Given the description of an element on the screen output the (x, y) to click on. 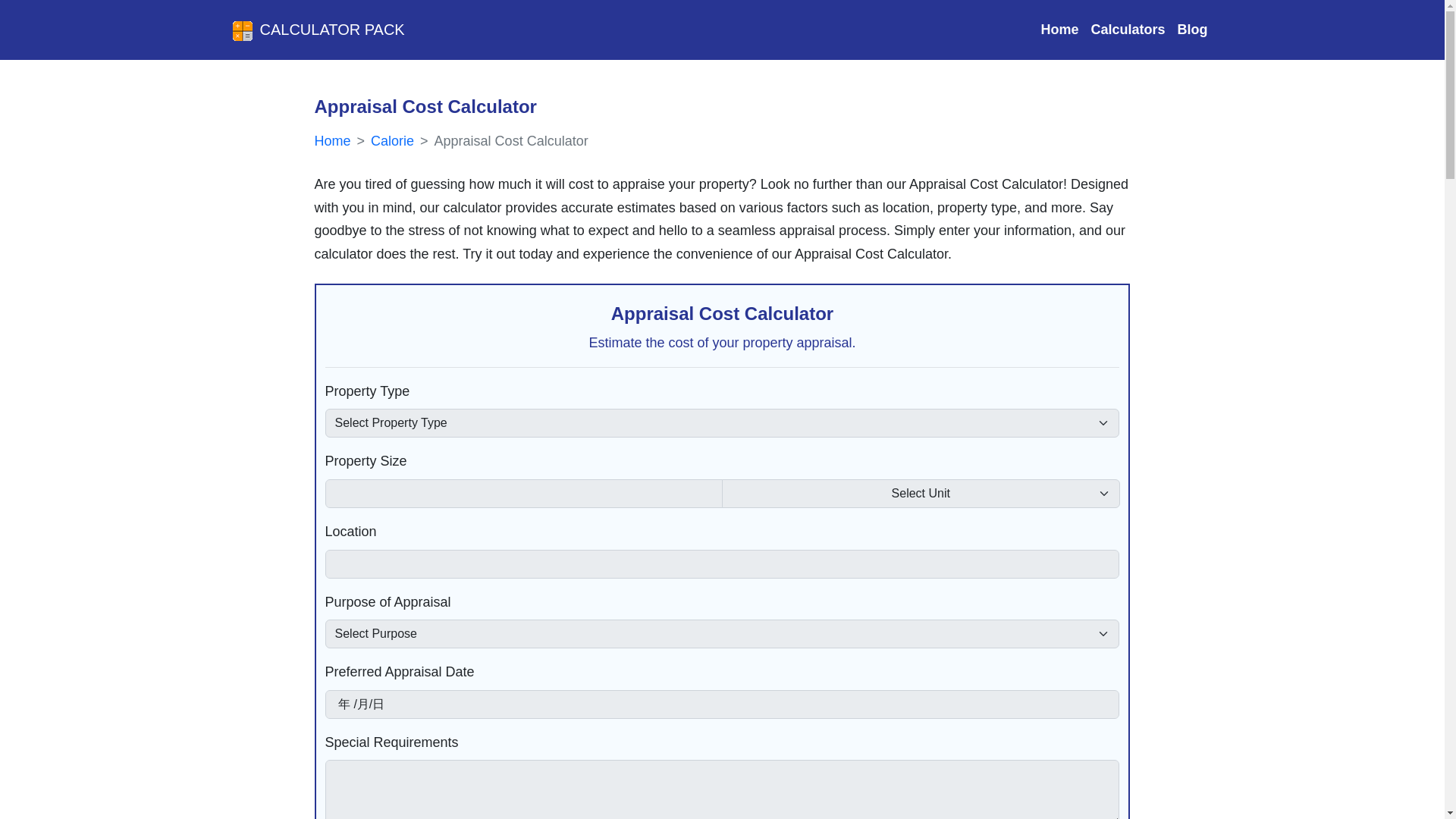
Home (332, 140)
CALCULATOR PACK (317, 29)
Home (1058, 29)
Blog (1191, 29)
Calculators (1127, 29)
Calorie (392, 140)
